Given the description of an element on the screen output the (x, y) to click on. 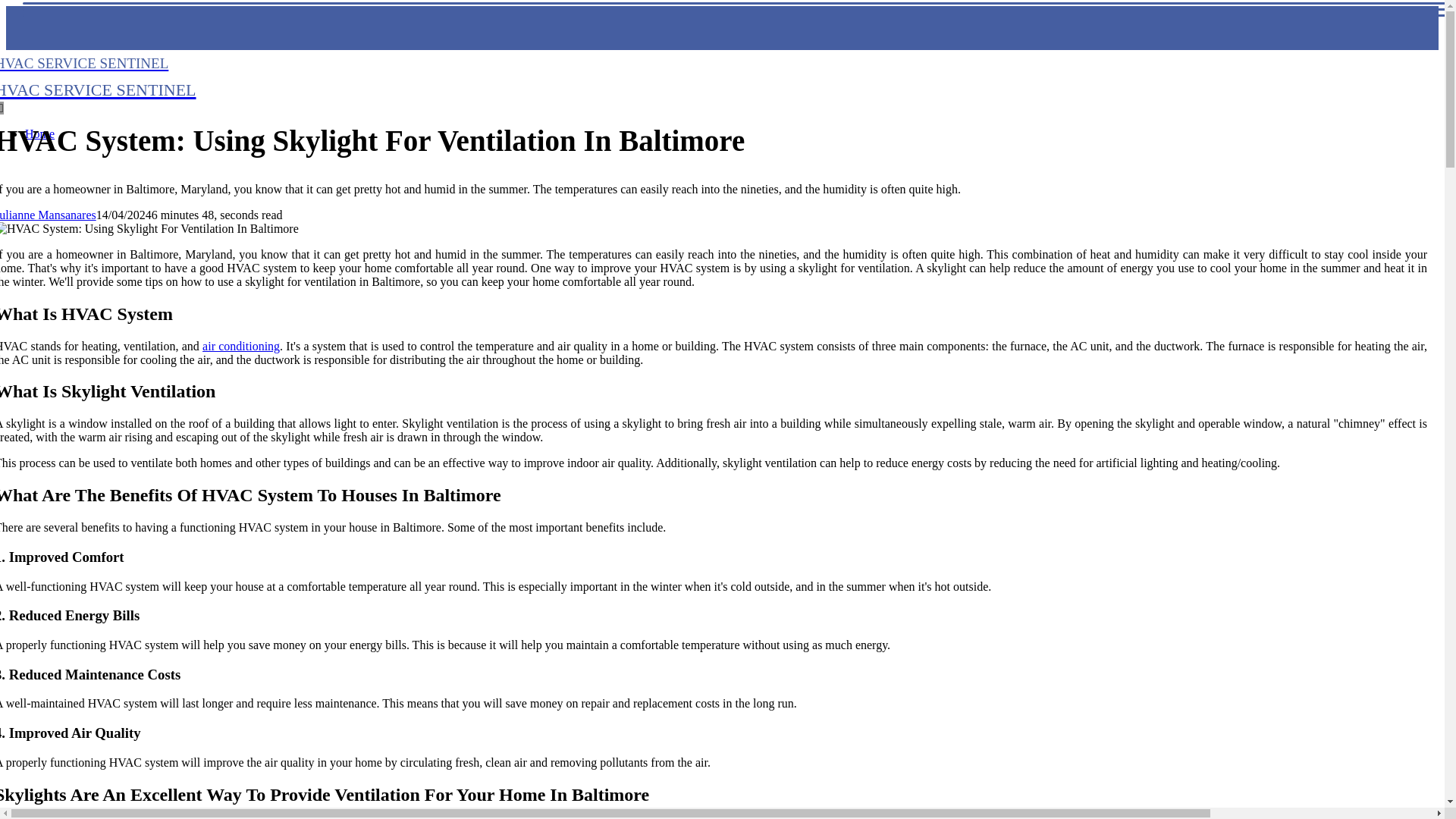
Julianne Mansanares (48, 214)
air conditioning (240, 345)
Home (39, 133)
Posts by Julianne Mansanares (98, 75)
